Given the description of an element on the screen output the (x, y) to click on. 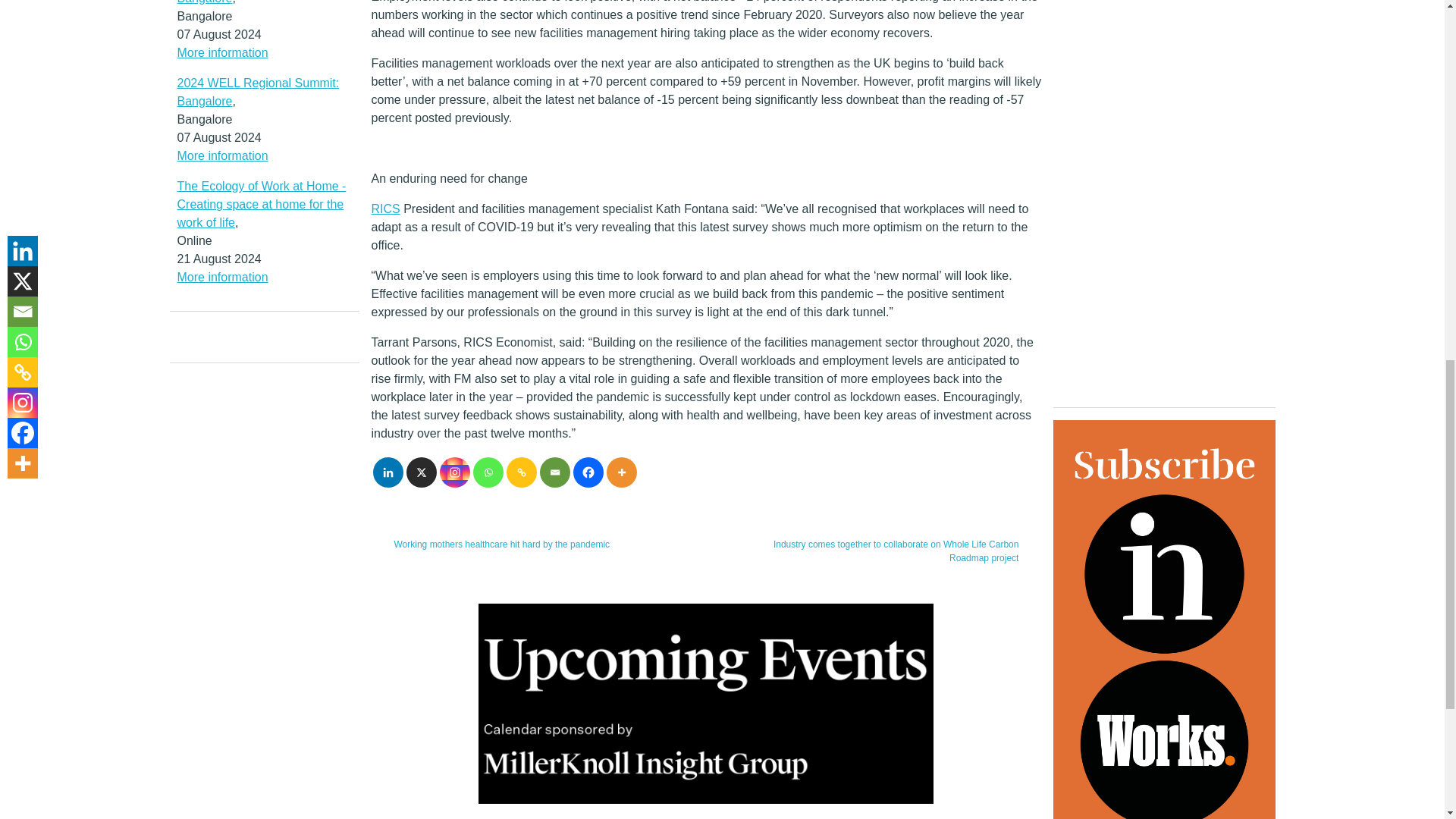
Linkedin (387, 472)
Email (555, 472)
Whatsapp (488, 472)
More (622, 472)
Facebook (588, 472)
X (421, 472)
Instagram (454, 472)
Copy Link (521, 472)
